Given the description of an element on the screen output the (x, y) to click on. 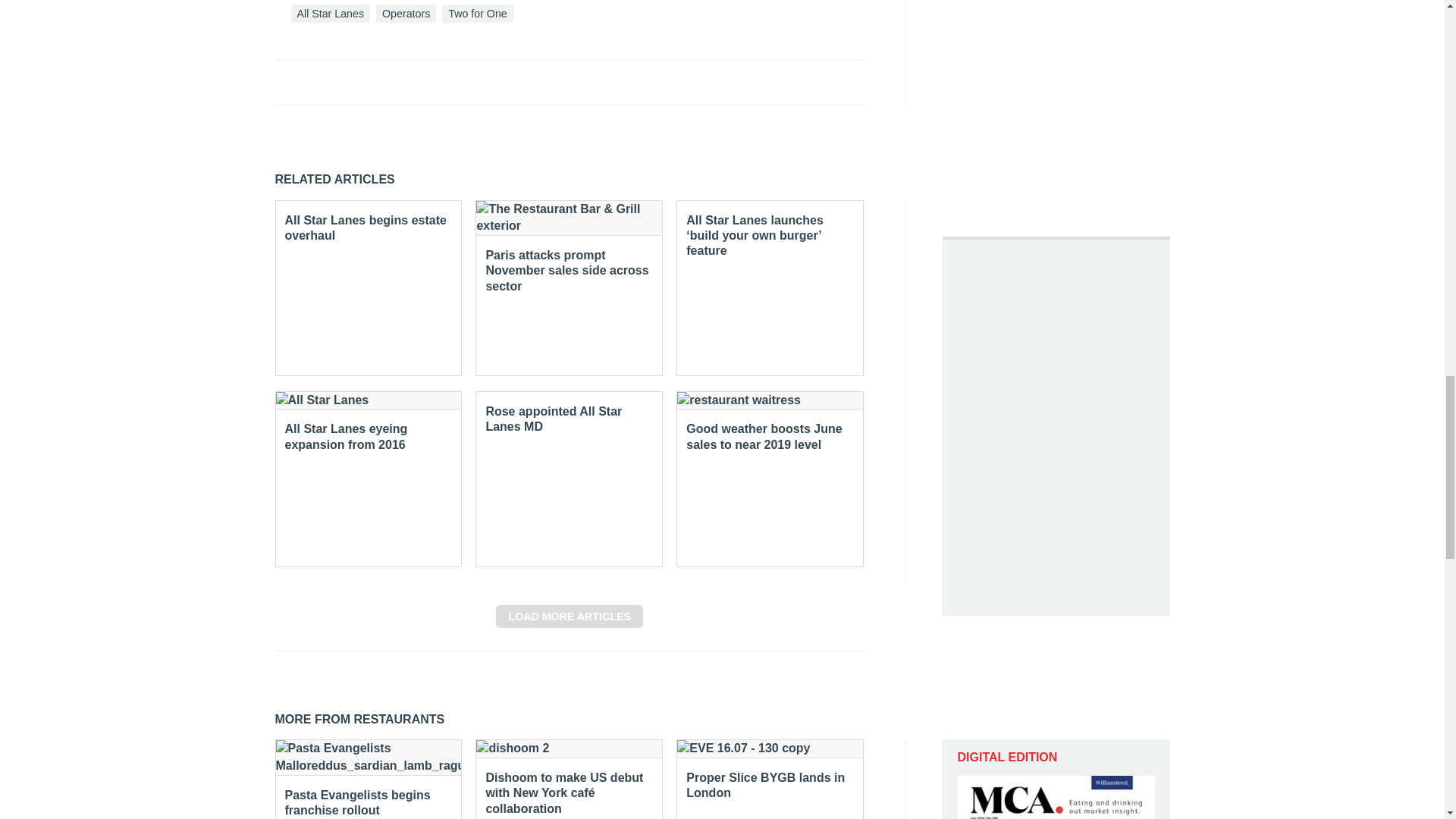
Share this on Facebook (288, 81)
Email this article (386, 81)
Share this on Linked in (352, 81)
Share this on Twitter (320, 81)
